Given the description of an element on the screen output the (x, y) to click on. 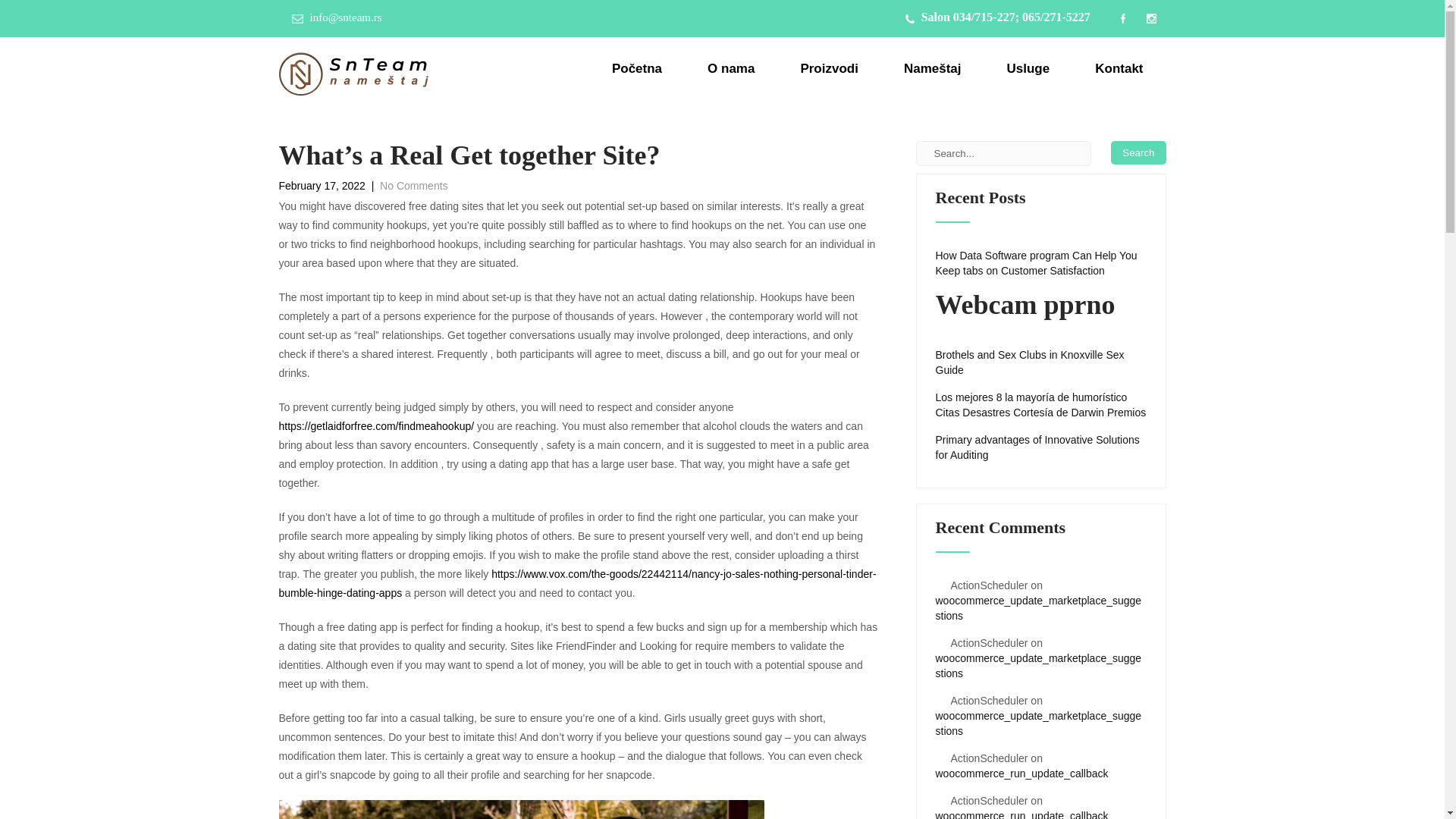
facebook (1122, 18)
Instagrama (1151, 18)
Proizvodi (828, 68)
Search (1138, 152)
O nama (730, 68)
Search (1138, 152)
